Given the description of an element on the screen output the (x, y) to click on. 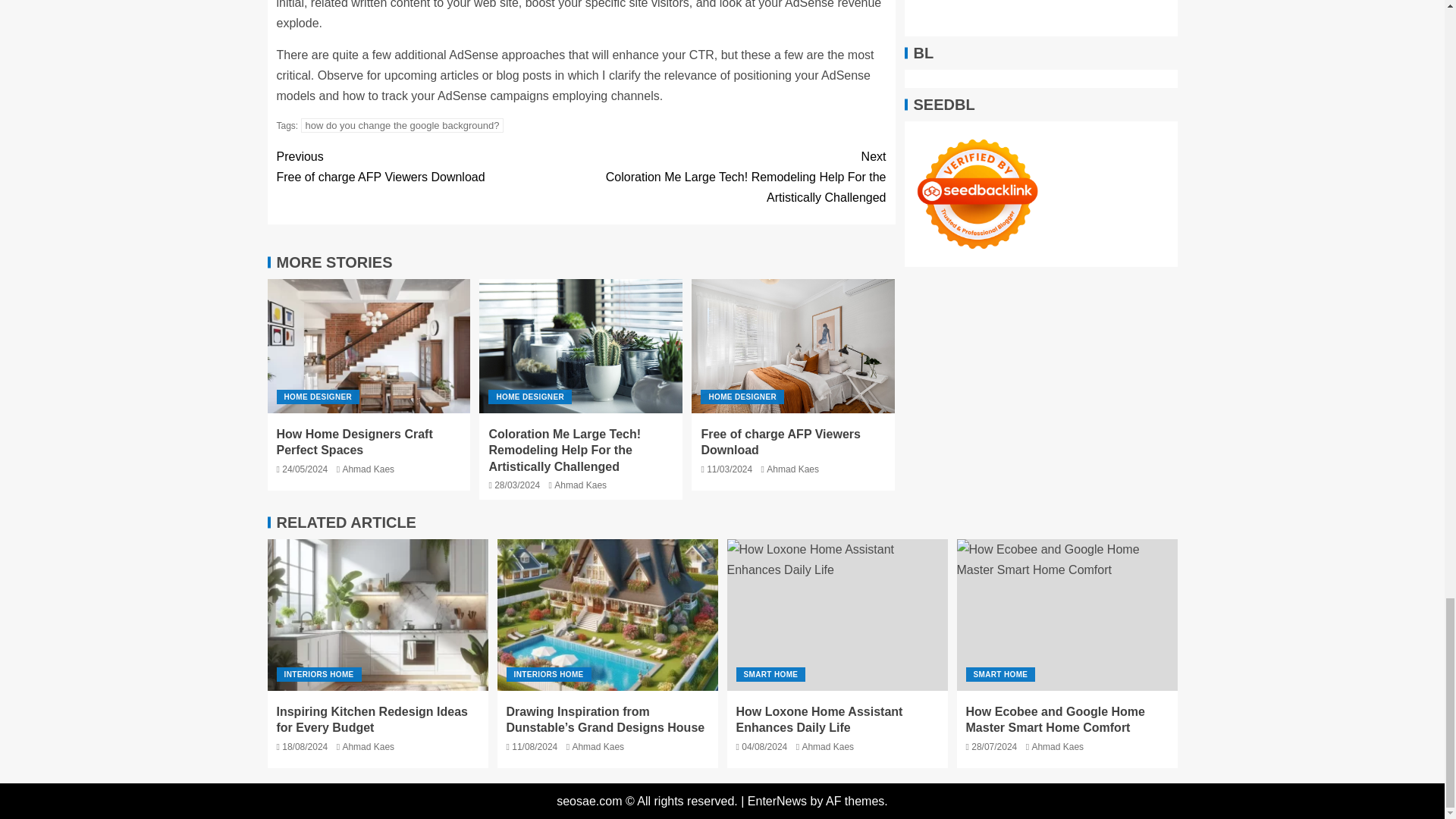
How Home Designers Craft Perfect Spaces (368, 346)
Ahmad Kaes (580, 484)
Inspiring Kitchen Redesign Ideas for Every Budget (428, 166)
How Loxone Home Assistant Enhances Daily Life (376, 614)
HOME DESIGNER (836, 614)
How Home Designers Craft Perfect Spaces (529, 396)
how do you change the google background? (354, 441)
How Ecobee and Google Home Master Smart Home Comfort (402, 124)
